Given the description of an element on the screen output the (x, y) to click on. 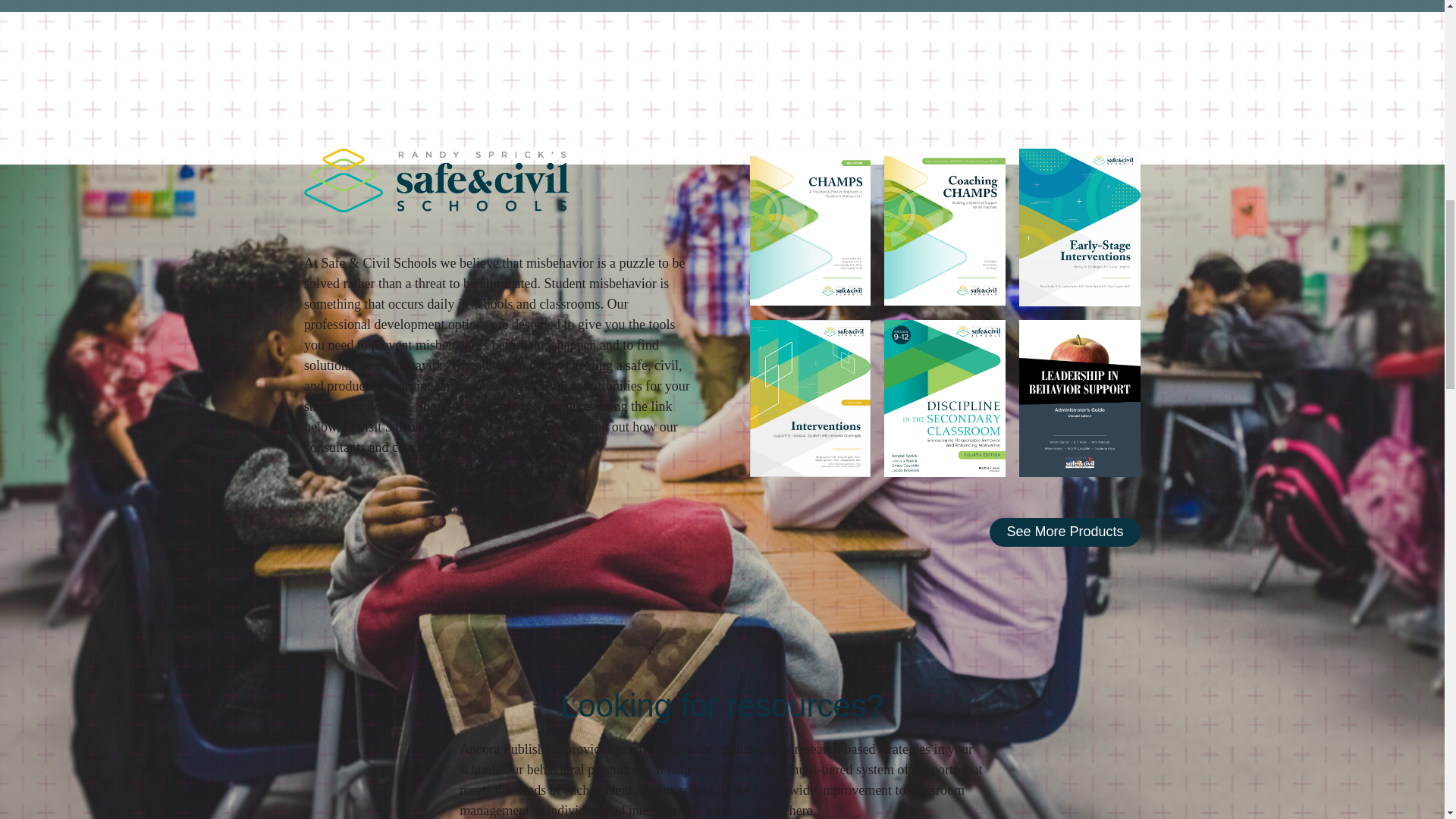
See More Products (1065, 532)
